Given the description of an element on the screen output the (x, y) to click on. 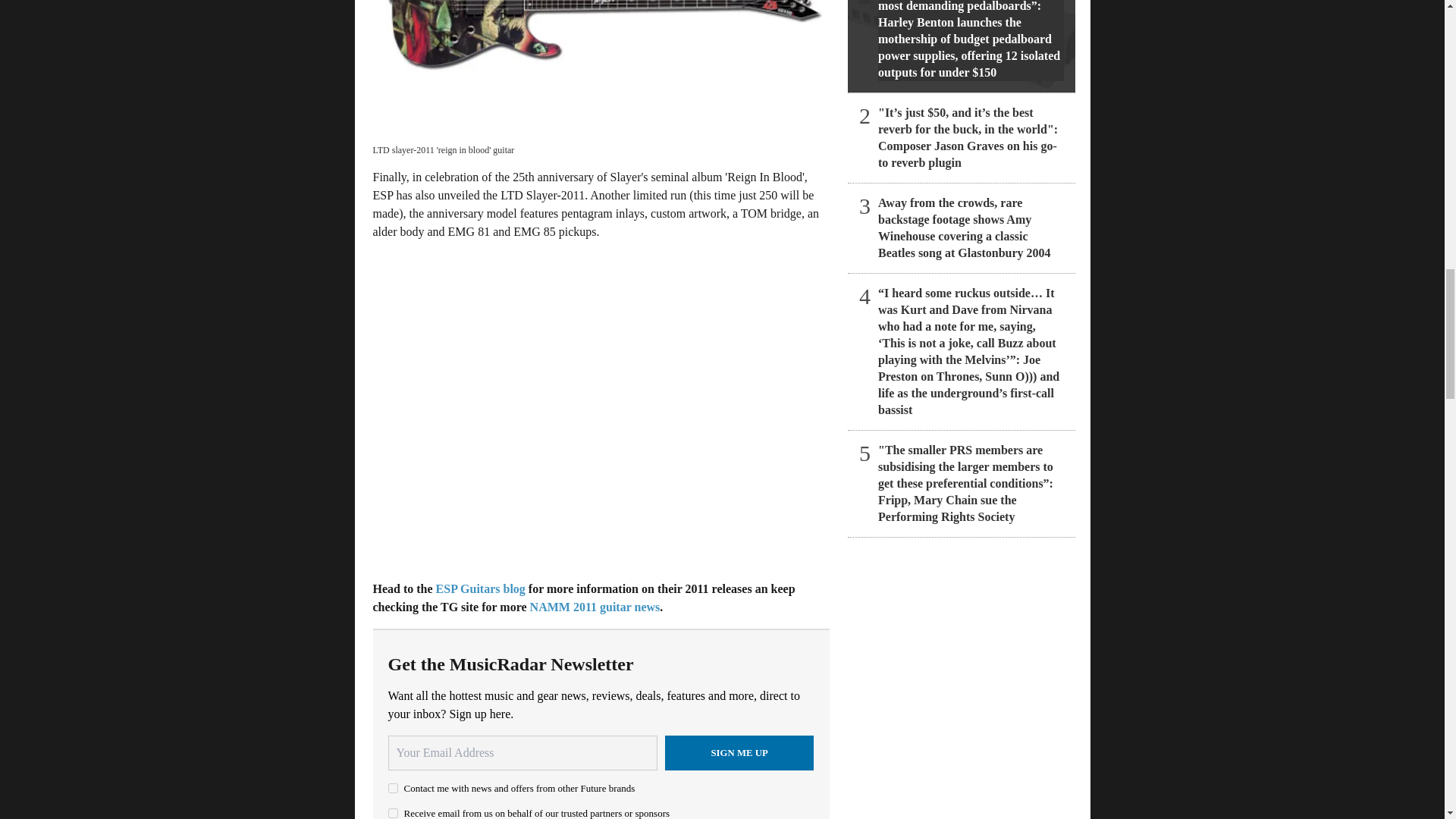
on (392, 813)
Sign me up (739, 752)
on (392, 787)
